Given the description of an element on the screen output the (x, y) to click on. 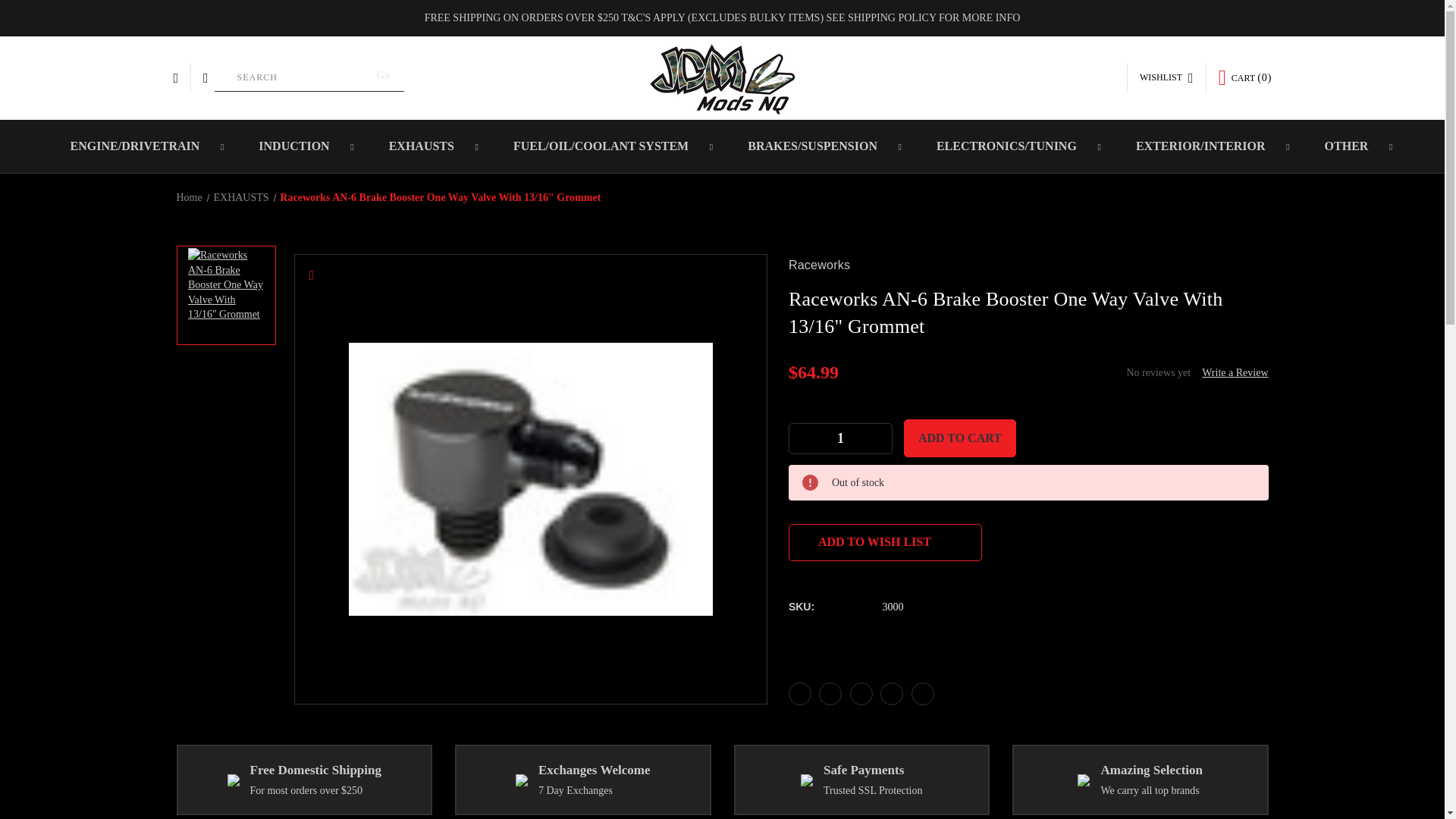
Go (383, 75)
Free Domestic Shipping (233, 779)
WISHLIST (1165, 77)
Go (383, 75)
CART 0 (1245, 77)
Exchanges Welcome (521, 779)
Amazing Selection (1083, 779)
Pinterest (922, 693)
Email (829, 693)
Twitter (891, 693)
JDM Mods NQ (721, 78)
Facebook (799, 693)
Safe Payments (806, 779)
Print (861, 693)
Add to Cart (960, 438)
